Given the description of an element on the screen output the (x, y) to click on. 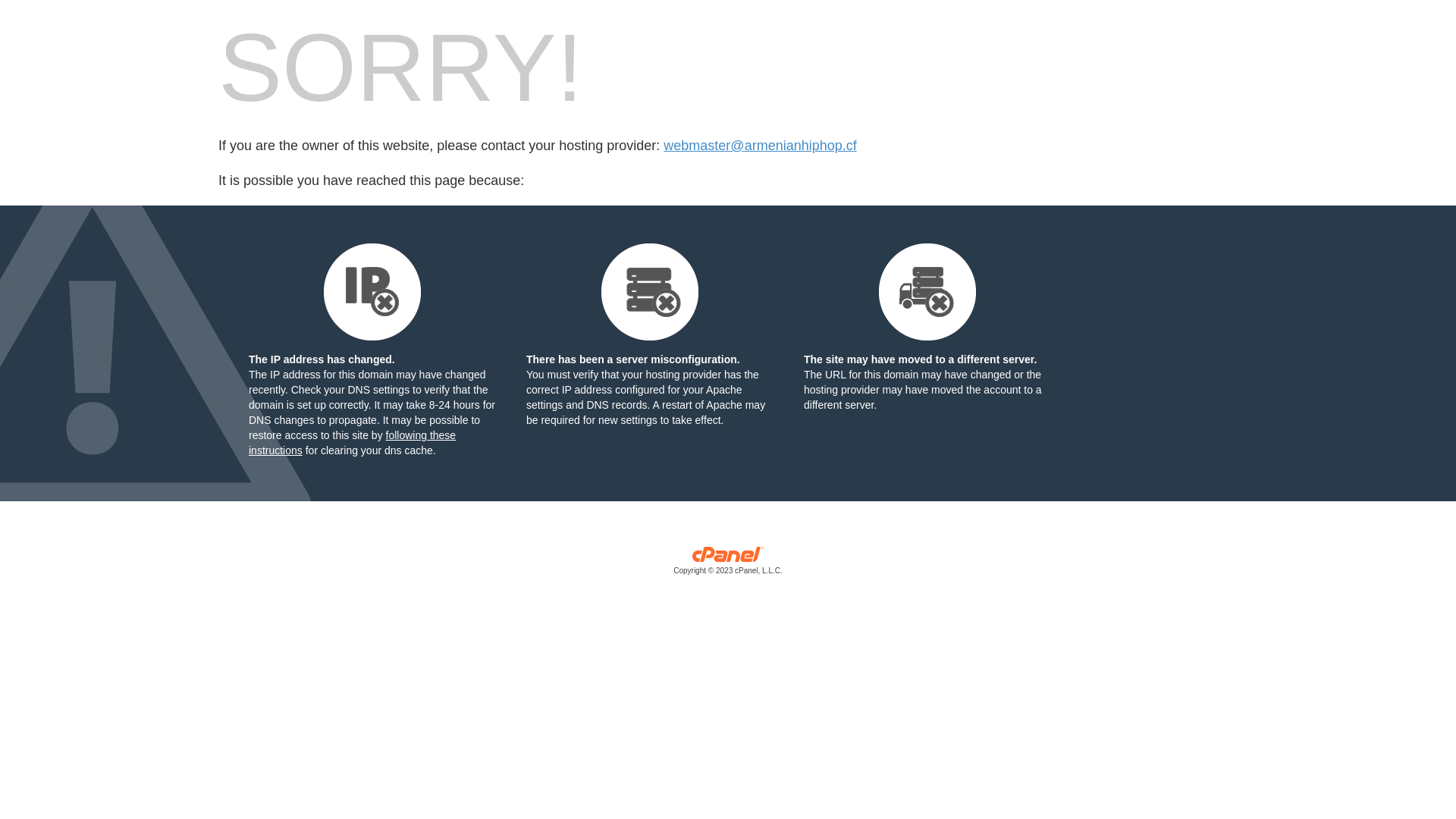
following these instructions Element type: text (351, 442)
webmaster@armenianhiphop.cf Element type: text (759, 145)
